Given the description of an element on the screen output the (x, y) to click on. 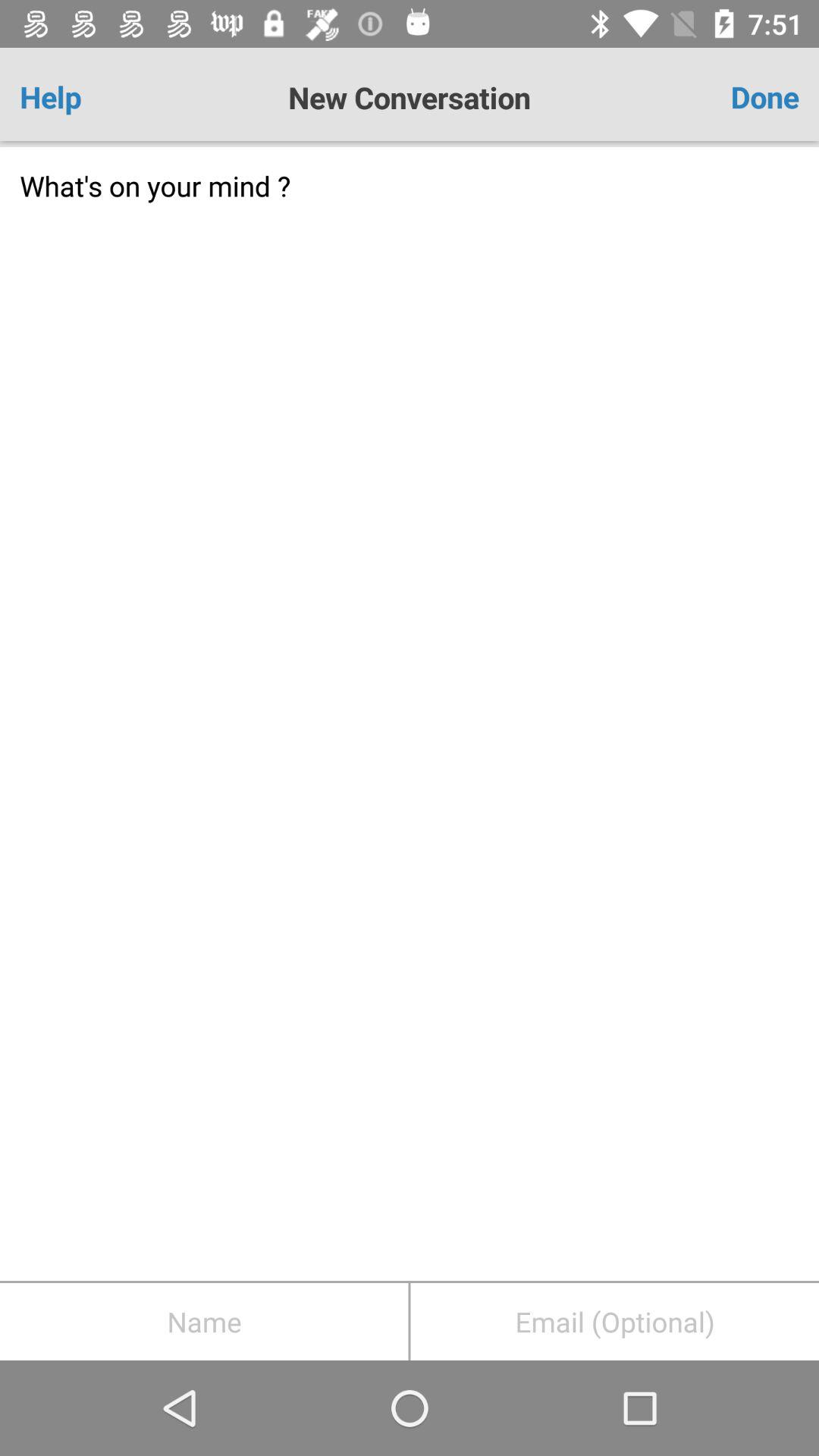
enter name (204, 1321)
